Given the description of an element on the screen output the (x, y) to click on. 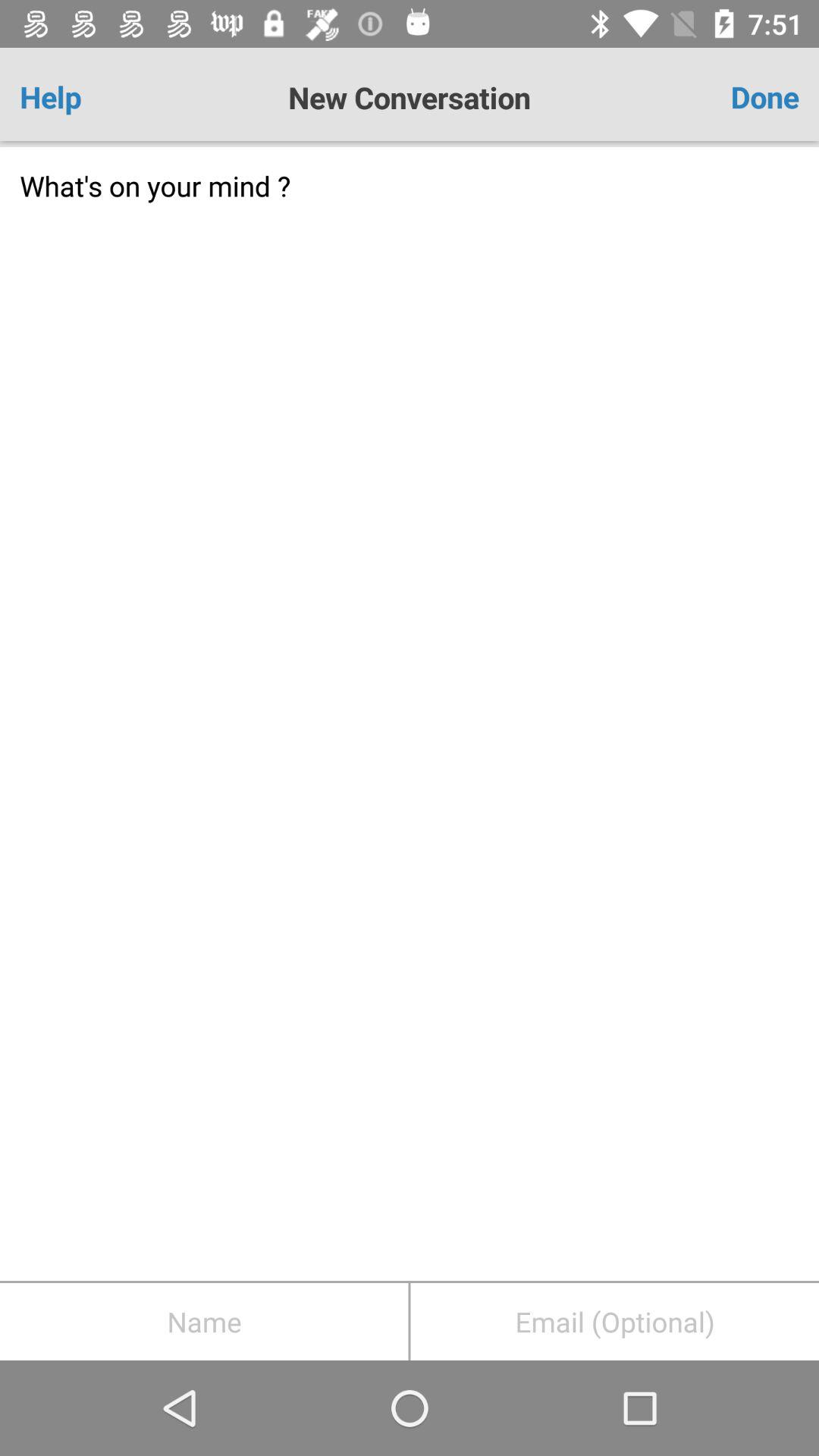
enter name (204, 1321)
